Given the description of an element on the screen output the (x, y) to click on. 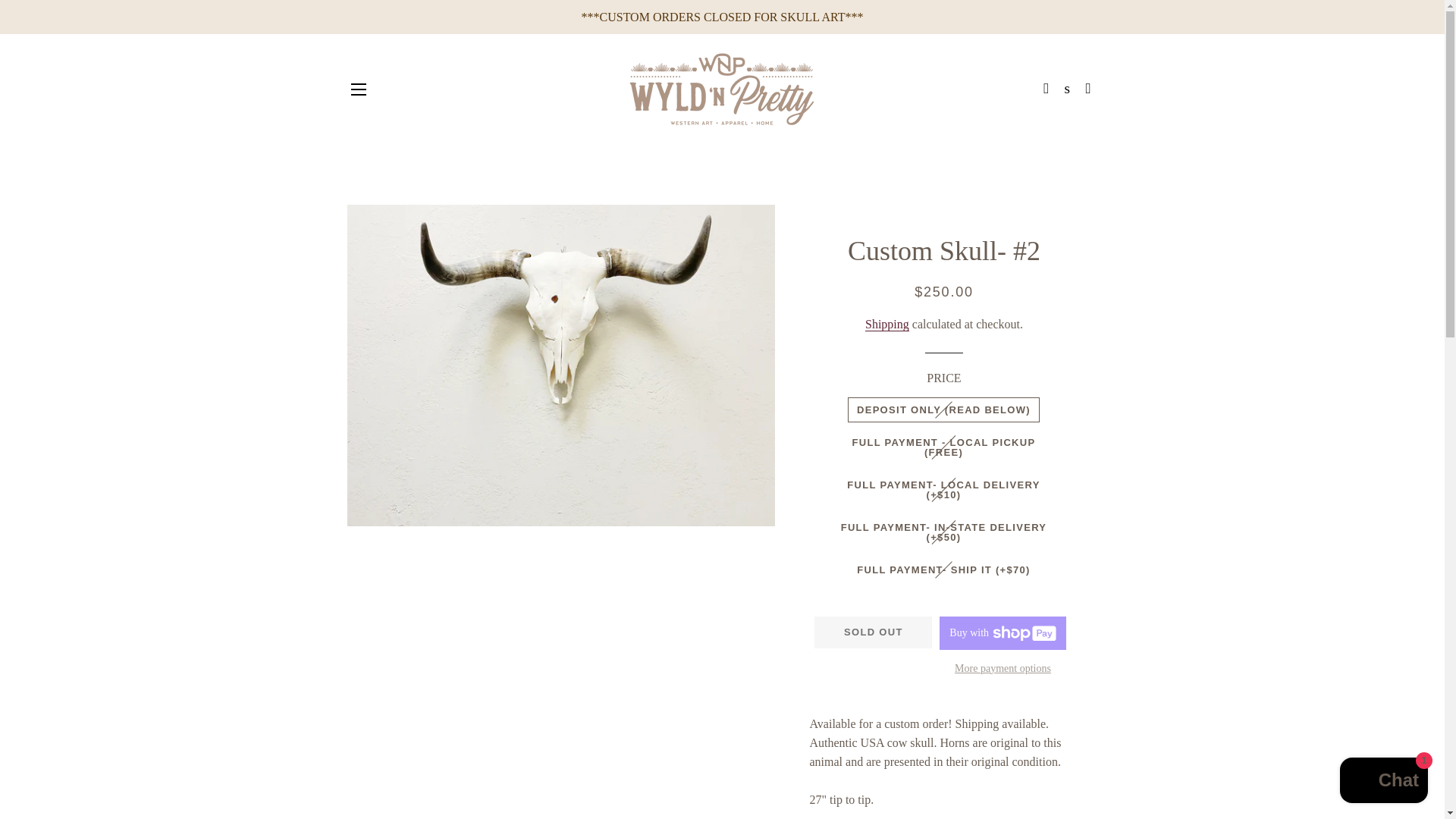
Shopify online store chat (1383, 781)
